Given the description of an element on the screen output the (x, y) to click on. 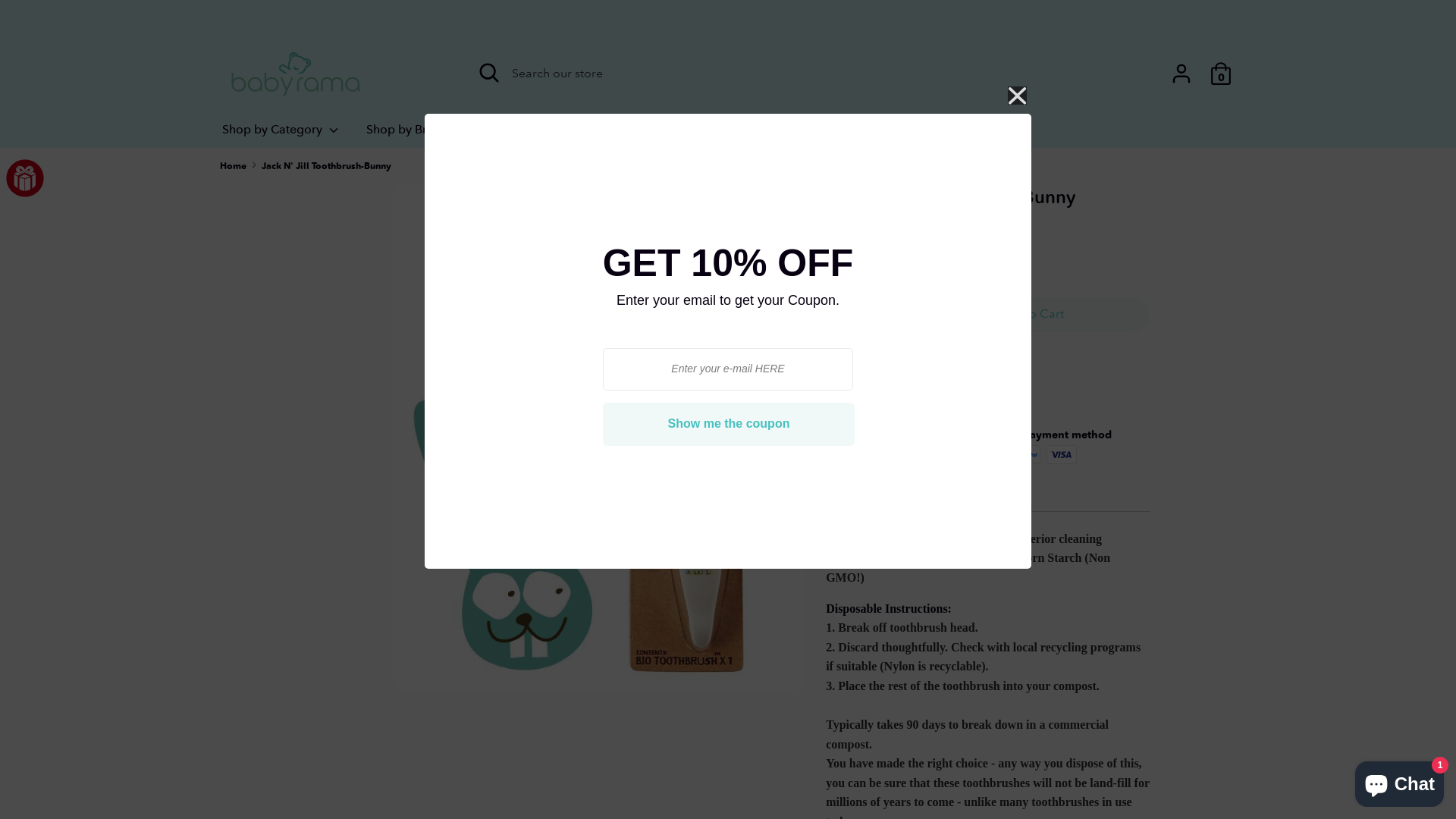
Price Match Element type: text (859, 387)
Close Element type: hover (1017, 99)
New Arrivals Element type: text (531, 133)
Add to Cart Element type: text (1030, 313)
Shop by Category Element type: text (280, 133)
Shopify online store chat Element type: hover (1399, 780)
Clearance Element type: text (683, 133)
SALE Element type: text (606, 133)
Replacement Parts Element type: text (807, 133)
Home Element type: text (232, 165)
Jack N' Jill Element type: text (863, 252)
Shop by Brands Element type: text (418, 133)
Jack N' Jill Toothbrush-Bunny Element type: text (326, 165)
Show me the coupon Element type: text (728, 423)
Description Element type: text (987, 499)
0 Element type: text (1214, 67)
